Given the description of an element on the screen output the (x, y) to click on. 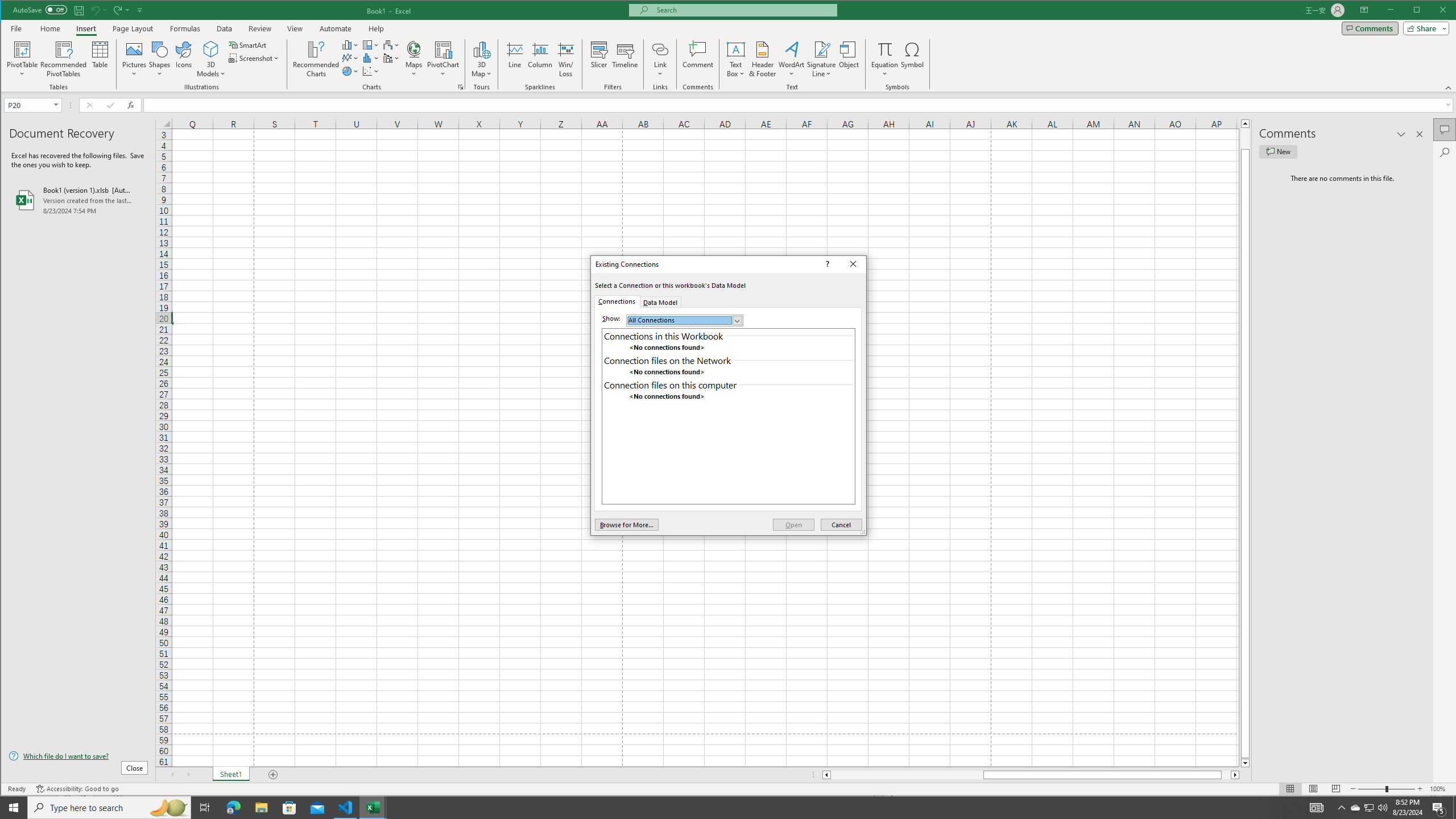
Connection files on this computer (728, 384)
More Options (884, 69)
Class: NetUIScrollBar (1030, 774)
Which file do I want to save? (78, 755)
Accessibility Checker Accessibility: Good to go (77, 788)
Start (13, 807)
View (1355, 807)
Context help (294, 28)
Insert Column or Bar Chart (826, 263)
Win/Loss (350, 44)
Column right (565, 59)
Zoom (1235, 774)
